Given the description of an element on the screen output the (x, y) to click on. 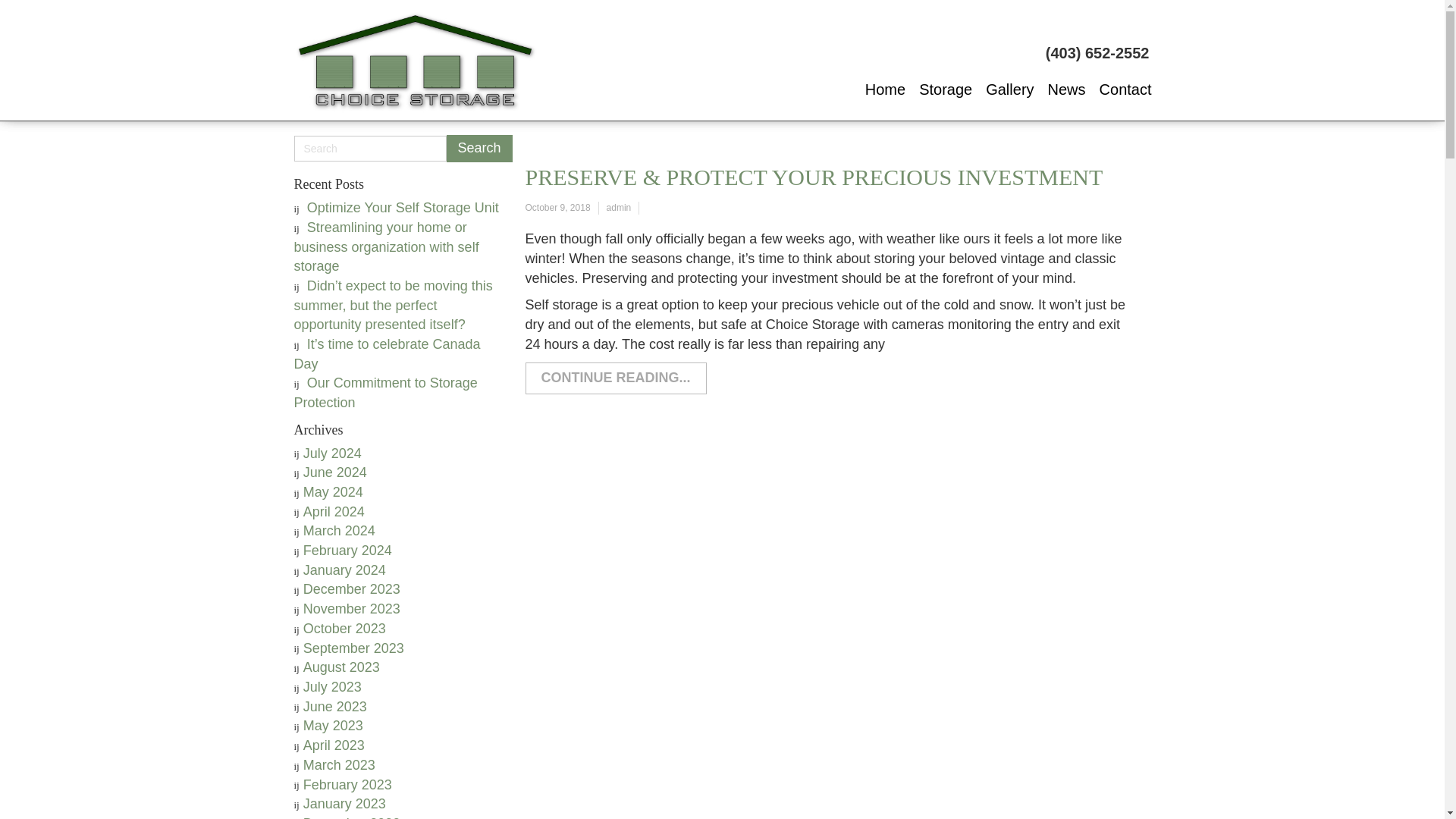
June 2024 (334, 472)
August 2023 (341, 667)
Storage (945, 89)
February 2023 (346, 783)
Contact (1125, 89)
November 2023 (351, 608)
September 2023 (353, 648)
March 2023 (338, 765)
February 2024 (346, 549)
December 2022 (351, 817)
May 2023 (332, 725)
April 2023 (333, 744)
Continue reading... (615, 377)
May 2024 (332, 491)
Optimize Your Self Storage Unit (403, 207)
